Given the description of an element on the screen output the (x, y) to click on. 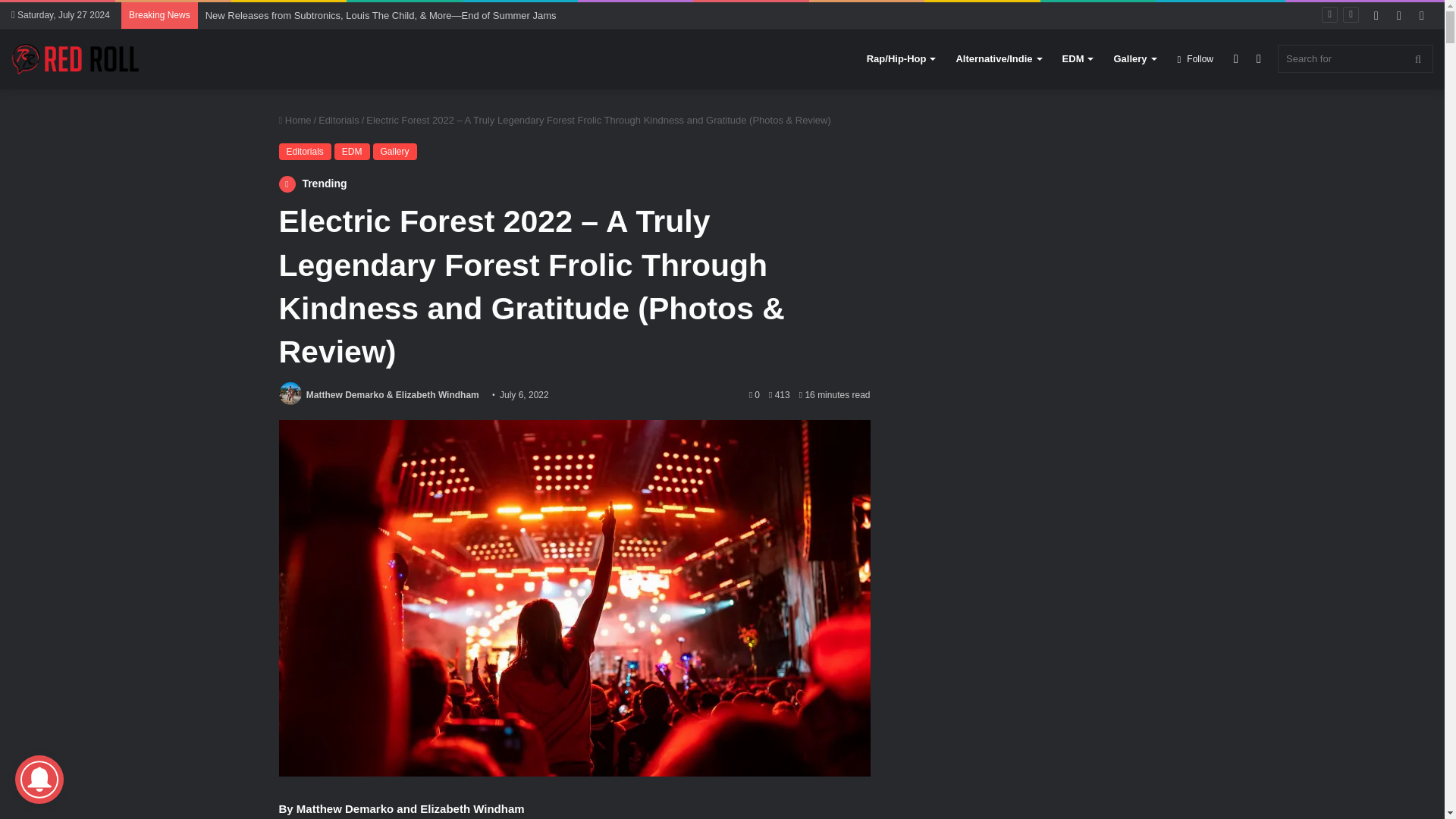
Gallery (394, 151)
Red Roll (75, 59)
EDM (351, 151)
Gallery (1134, 58)
Home (295, 120)
Editorials (338, 120)
Search for (1355, 58)
Follow (1195, 58)
Editorials (305, 151)
